Given the description of an element on the screen output the (x, y) to click on. 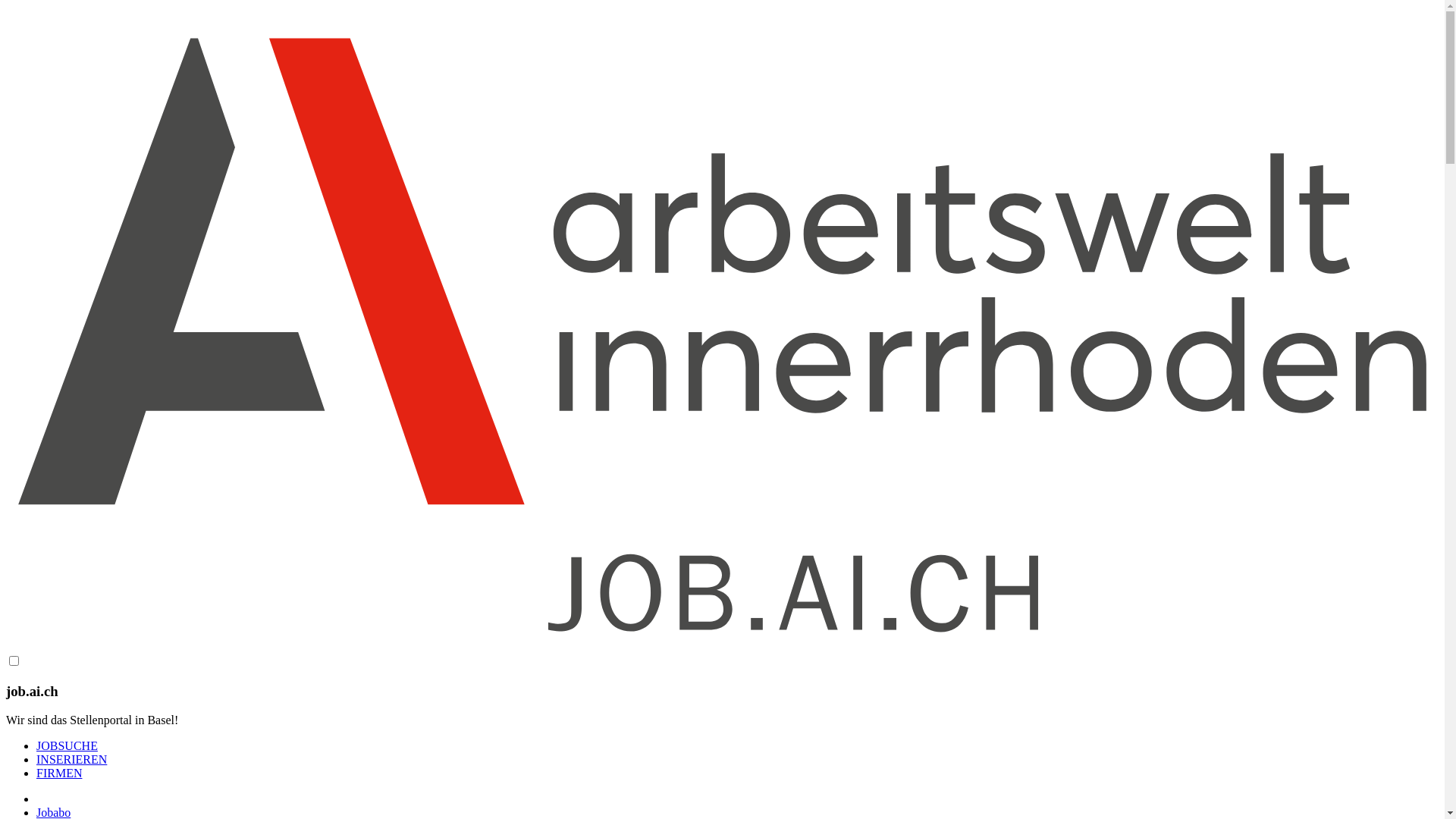
INSERIEREN Element type: text (71, 759)
JOBSUCHE Element type: text (66, 745)
FIRMEN Element type: text (58, 772)
